Given the description of an element on the screen output the (x, y) to click on. 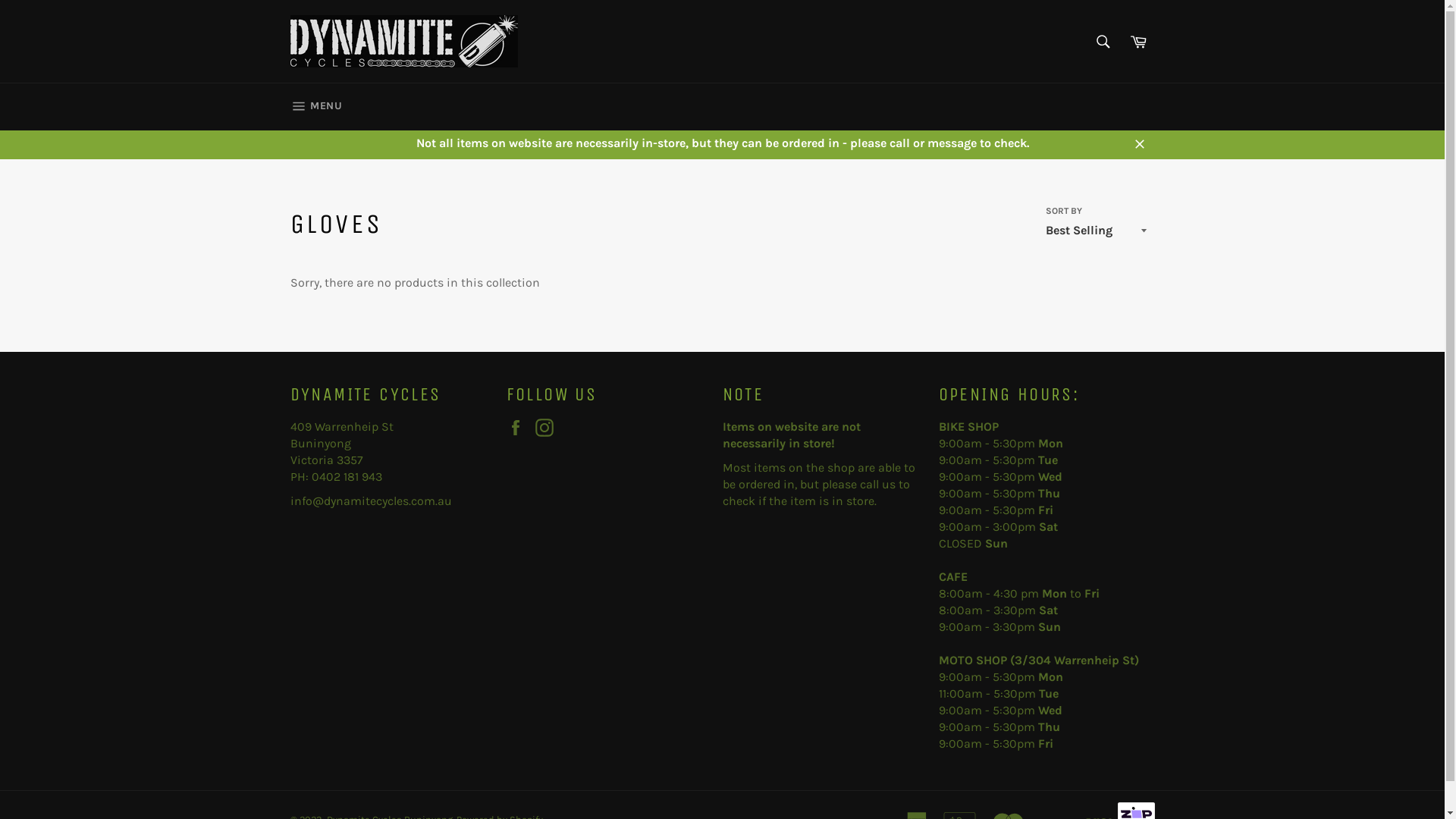
Search Element type: text (1103, 41)
Cart Element type: text (1138, 41)
Close Element type: text (1138, 143)
Instagram Element type: text (548, 427)
MENU
SITE NAVIGATION Element type: text (315, 106)
Facebook Element type: text (519, 427)
